Given the description of an element on the screen output the (x, y) to click on. 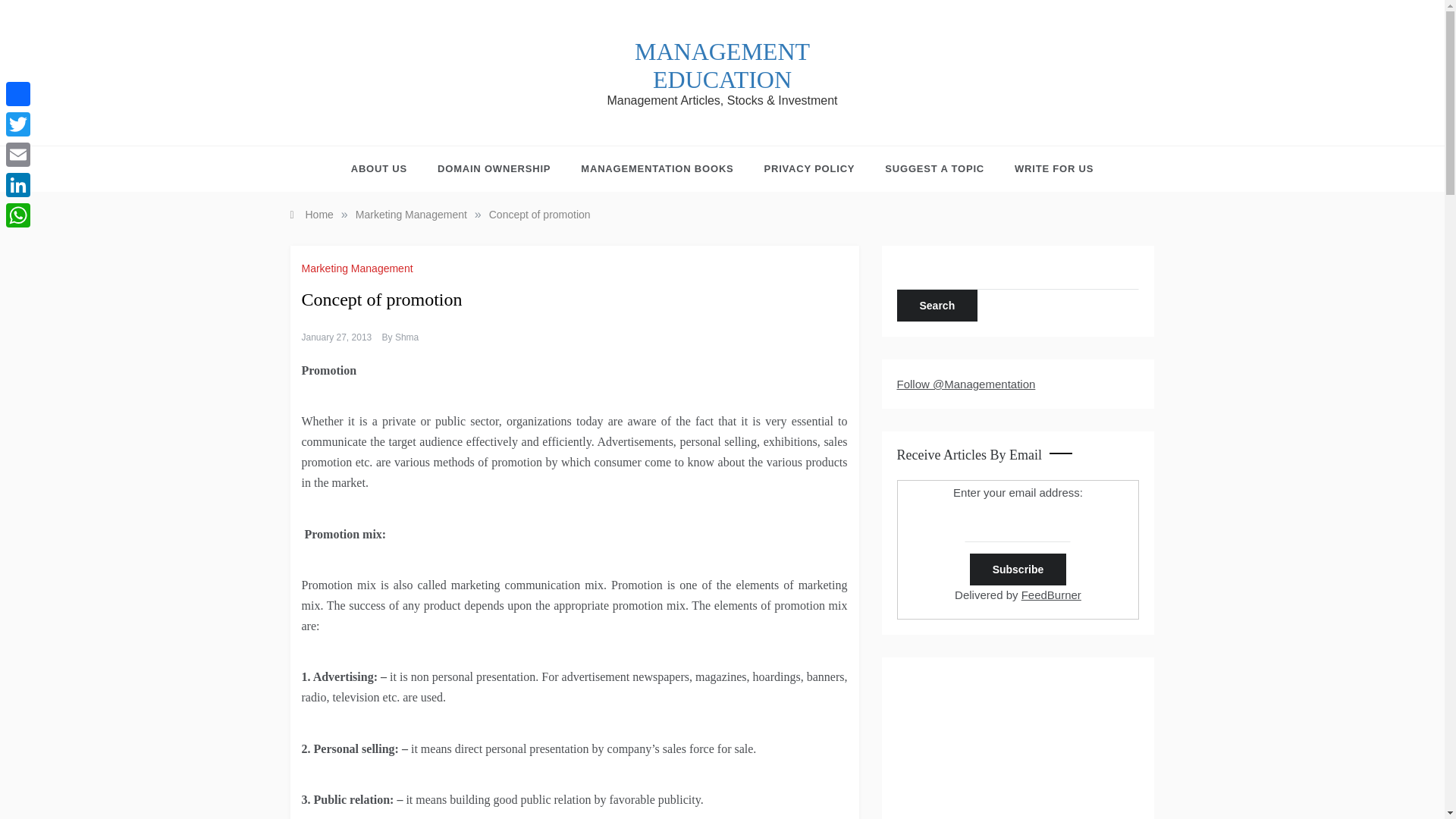
SUGGEST A TOPIC (933, 168)
Subscribe (1018, 569)
Marketing Management (358, 268)
PRIVACY POLICY (809, 168)
MANAGEMENT EDUCATION (721, 65)
WRITE FOR US (1045, 168)
DOMAIN OWNERSHIP (494, 168)
Search (936, 305)
Home (311, 214)
FeedBurner (1051, 594)
